Given the description of an element on the screen output the (x, y) to click on. 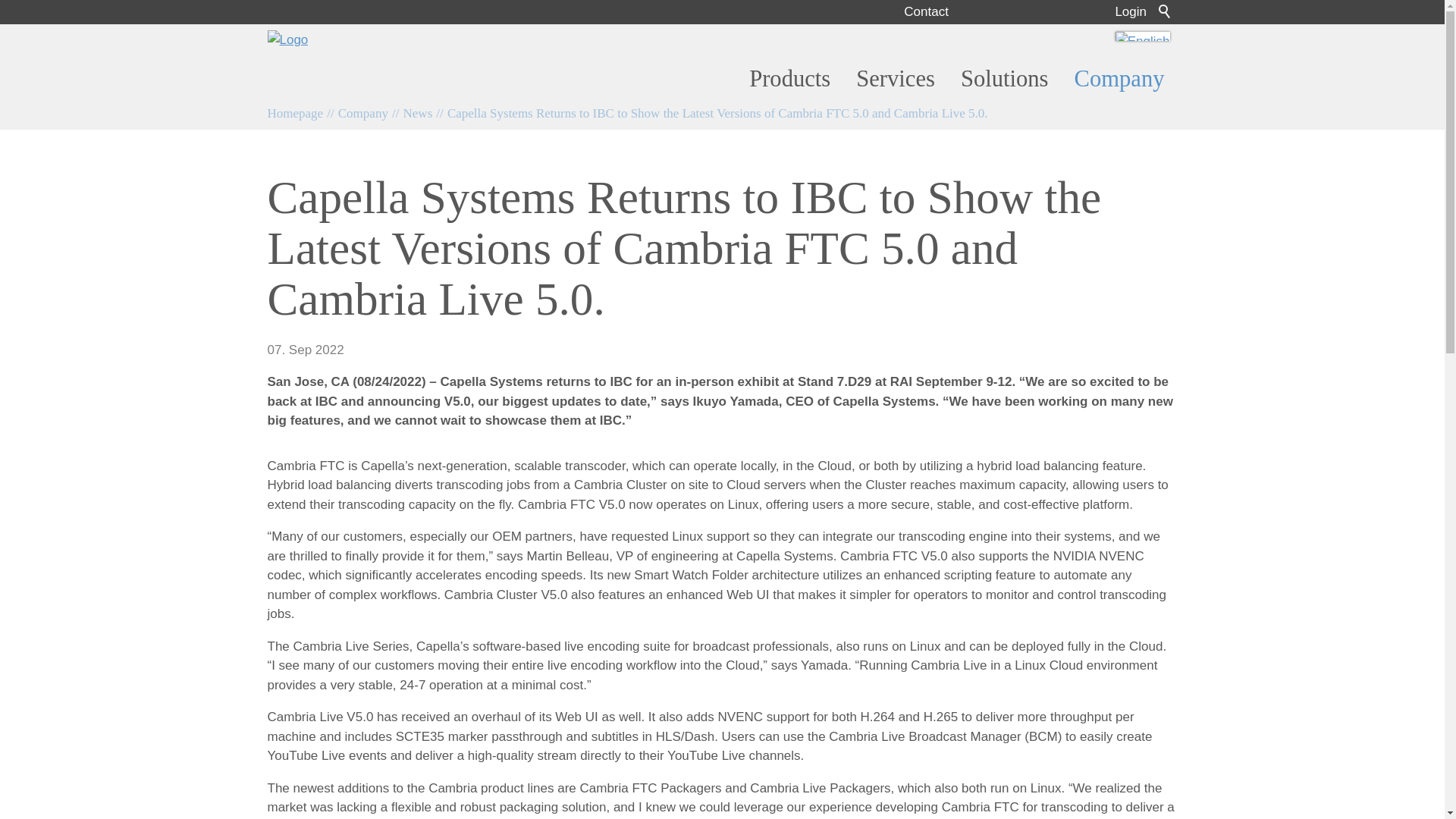
YouTube (1058, 12)
English (1142, 35)
Products (789, 78)
Login (1131, 11)
Contact (926, 11)
